Given the description of an element on the screen output the (x, y) to click on. 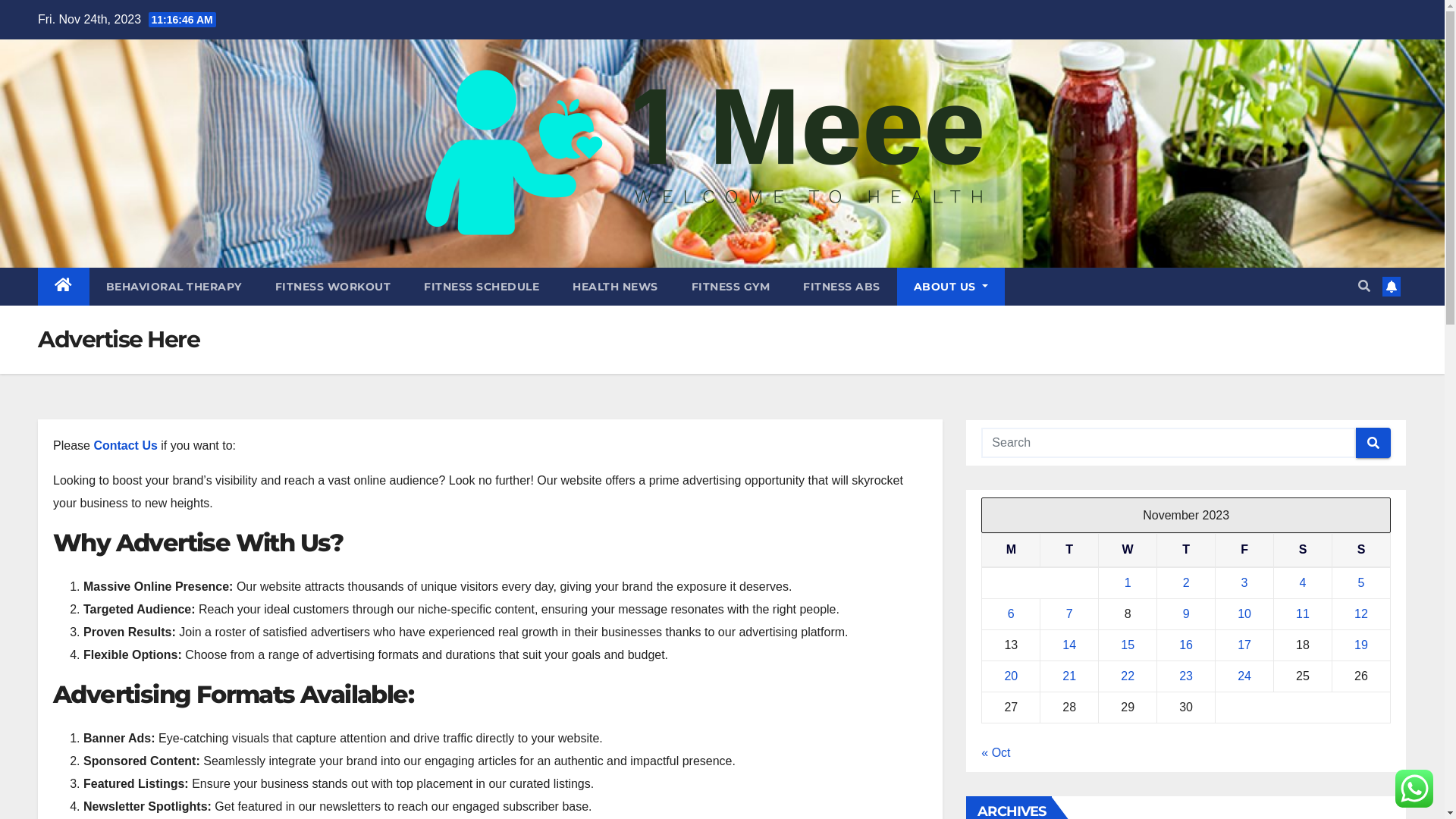
5 Element type: text (1361, 582)
15 Element type: text (1127, 644)
HEALTH NEWS Element type: text (614, 286)
19 Element type: text (1361, 644)
10 Element type: text (1244, 613)
16 Element type: text (1185, 644)
BEHAVIORAL THERAPY Element type: text (173, 286)
FITNESS ABS Element type: text (841, 286)
20 Element type: text (1010, 675)
2 Element type: text (1186, 582)
ABOUT US Element type: text (950, 286)
3 Element type: text (1244, 582)
FITNESS SCHEDULE Element type: text (481, 286)
24 Element type: text (1244, 675)
Contact Us Element type: text (124, 445)
7 Element type: text (1069, 613)
14 Element type: text (1069, 644)
22 Element type: text (1127, 675)
21 Element type: text (1069, 675)
4 Element type: text (1302, 582)
FITNESS WORKOUT Element type: text (332, 286)
9 Element type: text (1186, 613)
1 Element type: text (1127, 582)
12 Element type: text (1361, 613)
6 Element type: text (1010, 613)
11 Element type: text (1302, 613)
17 Element type: text (1244, 644)
23 Element type: text (1185, 675)
FITNESS GYM Element type: text (730, 286)
